Given the description of an element on the screen output the (x, y) to click on. 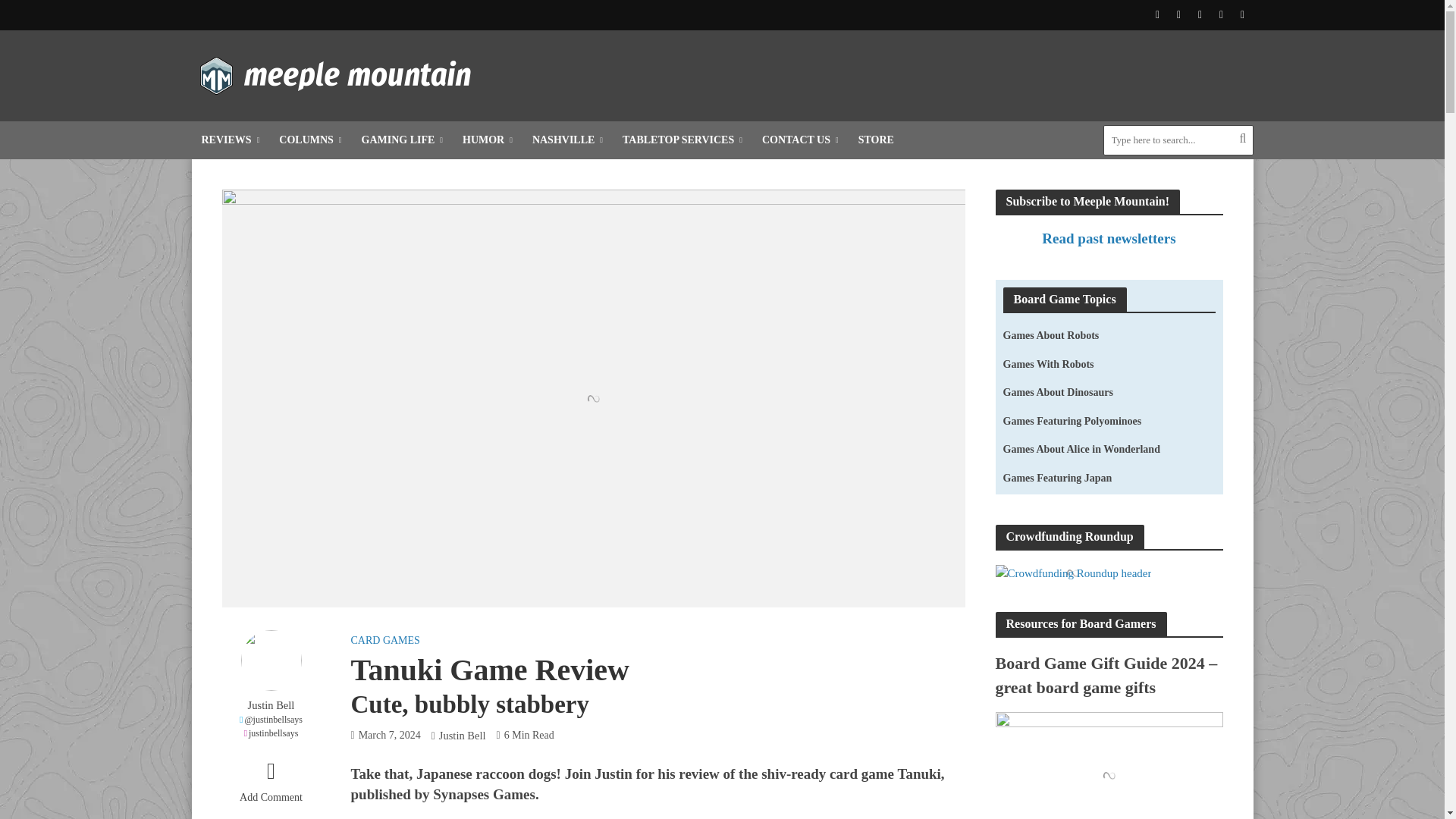
HUMOR (487, 139)
GAMING LIFE (402, 139)
REVIEWS (229, 139)
COLUMNS (309, 139)
NASHVILLE (567, 139)
